Given the description of an element on the screen output the (x, y) to click on. 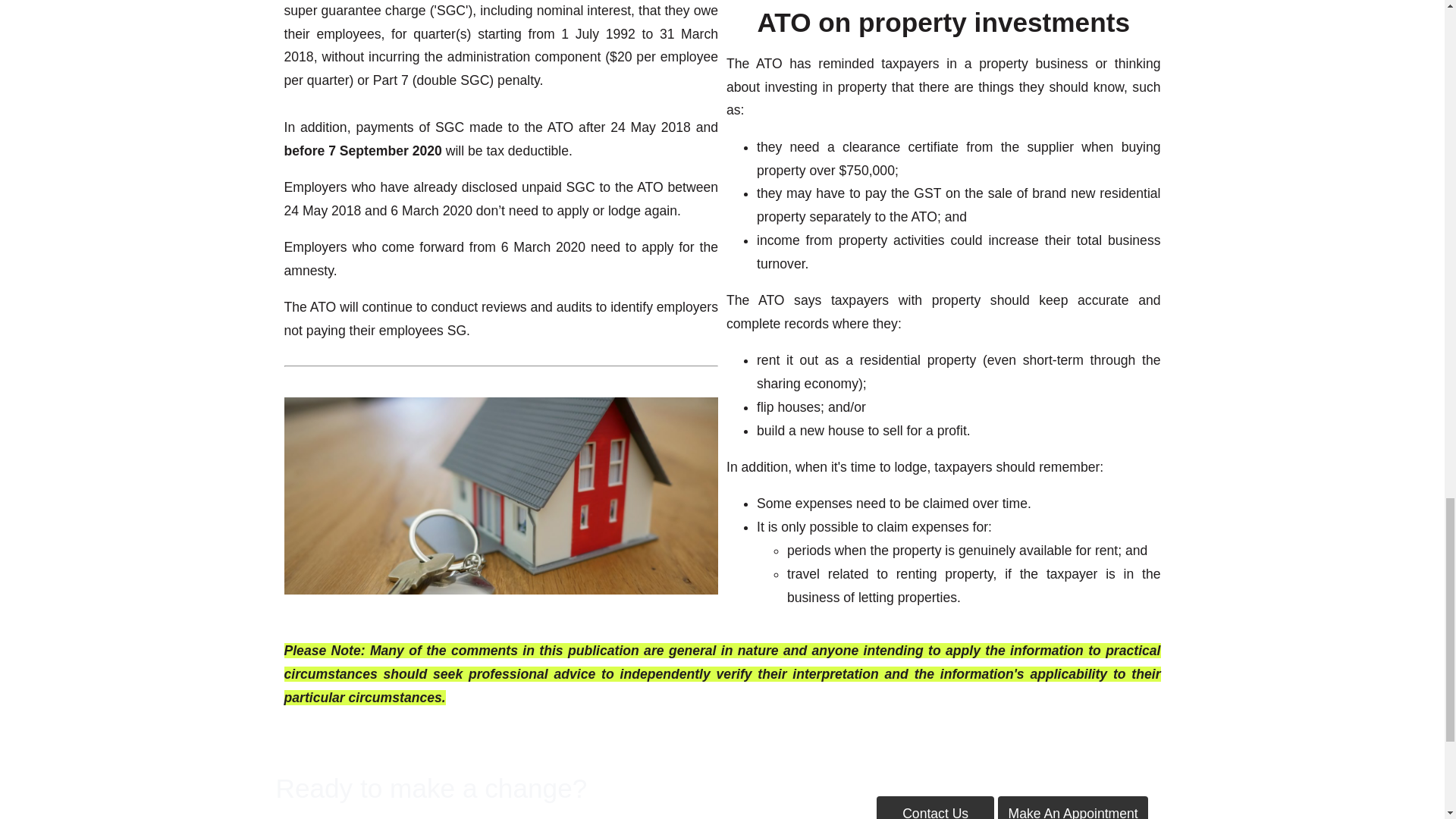
Contact Us (935, 807)
Make An Appointment (1072, 807)
